Given the description of an element on the screen output the (x, y) to click on. 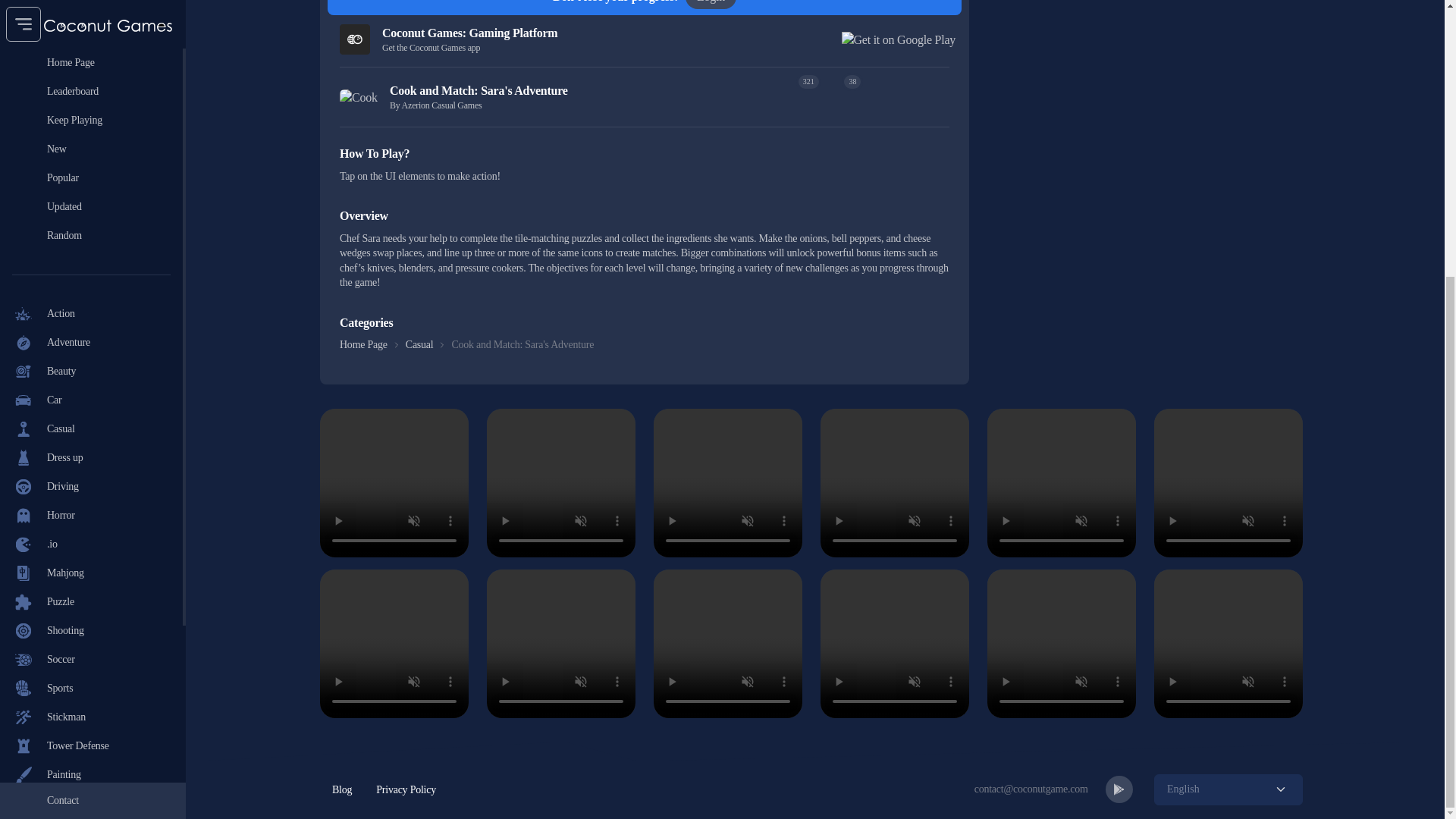
Casual (90, 19)
Dress up (90, 48)
Horror (90, 105)
Soccer (90, 249)
.io (90, 134)
For Kids (90, 422)
Painting (90, 365)
Shooting (90, 221)
Google Play (90, 573)
Contact (92, 390)
